Given the description of an element on the screen output the (x, y) to click on. 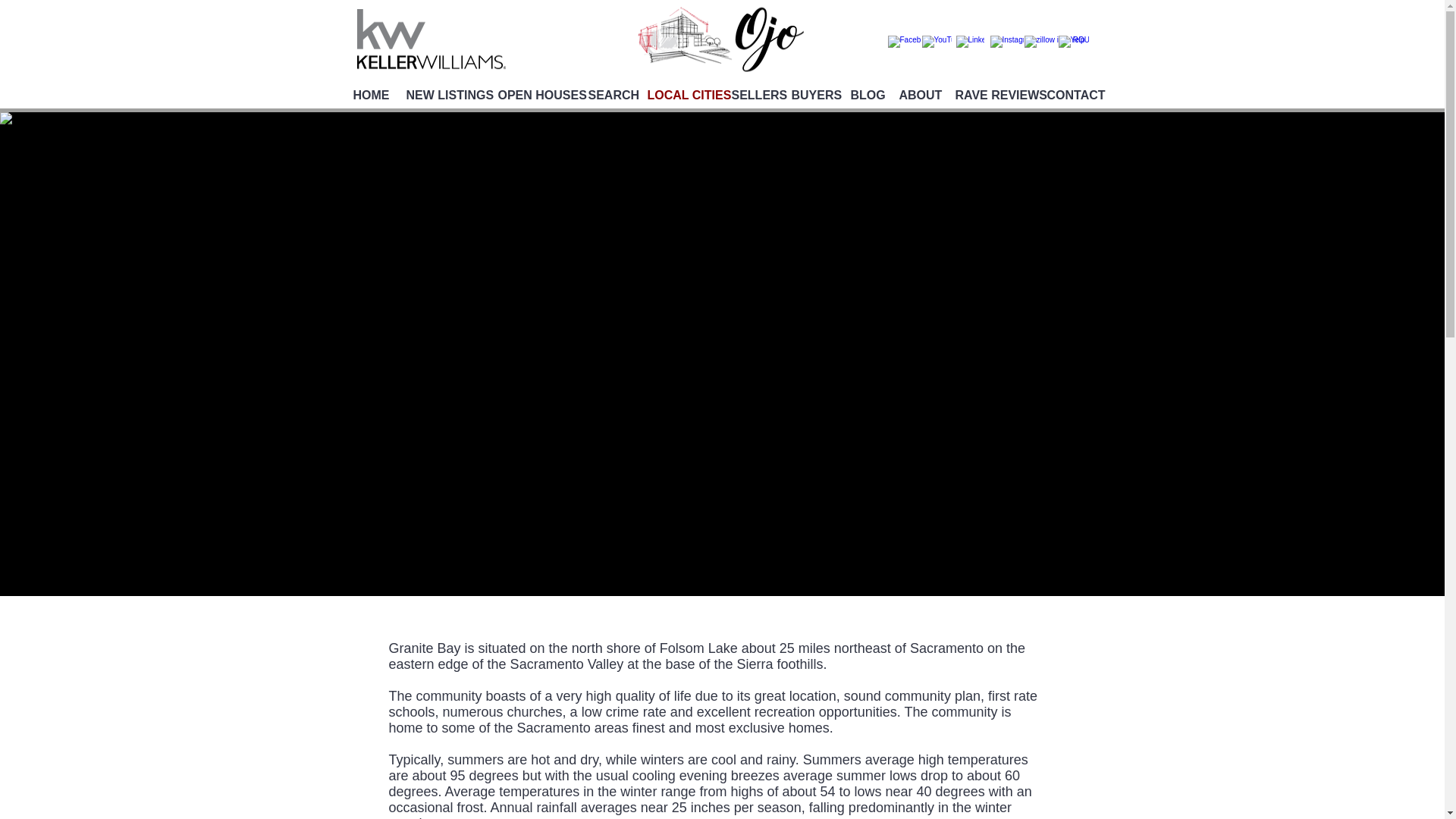
BLOG (862, 94)
HOME (367, 94)
SELLERS (750, 94)
LOCAL CITIES (676, 94)
BUYERS (808, 94)
OPEN HOUSES (531, 94)
NEW LISTINGS (440, 94)
SEARCH (605, 94)
ABOUT (914, 94)
CONTACT (1067, 94)
